Given the description of an element on the screen output the (x, y) to click on. 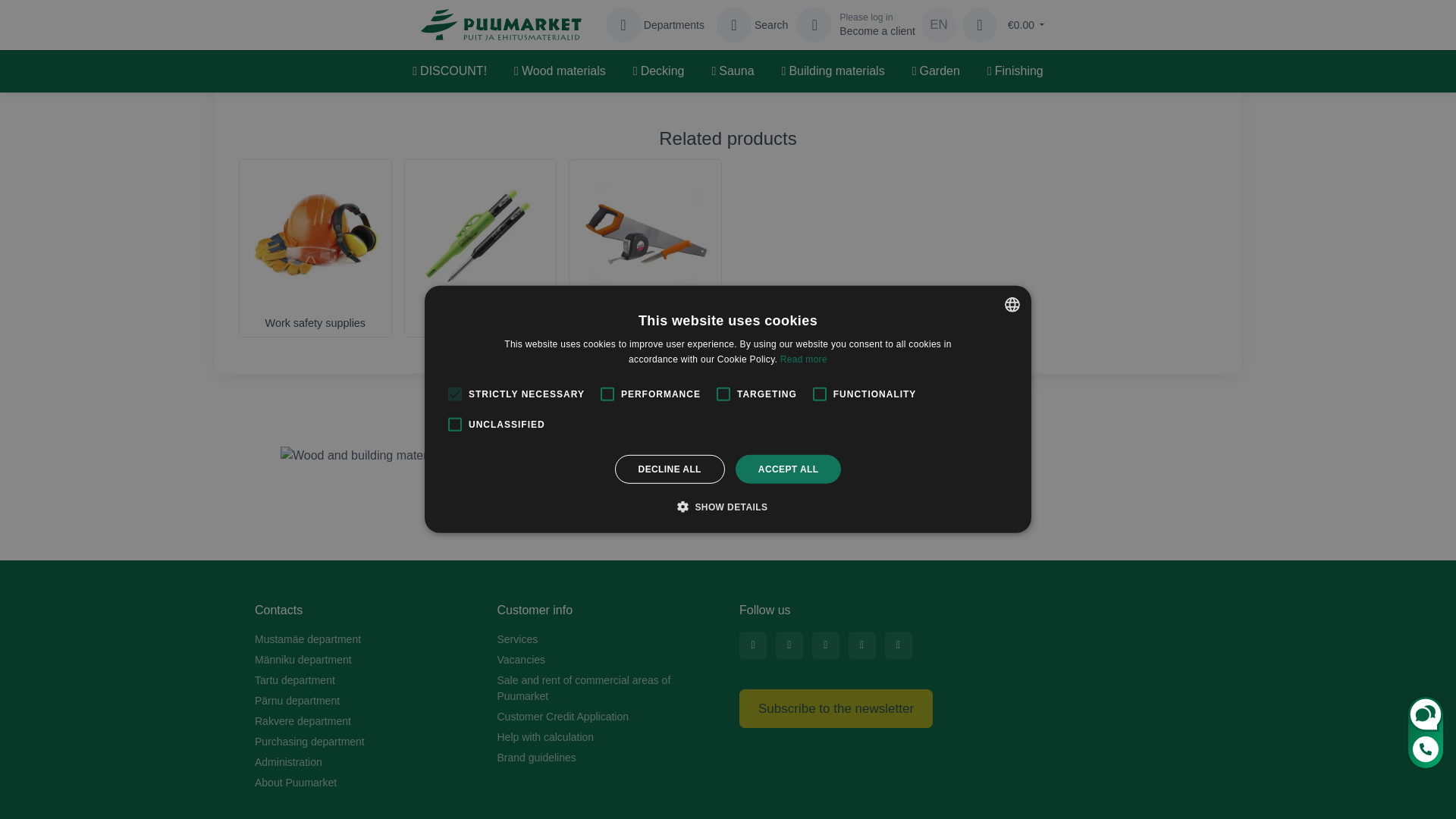
YouTube player (514, 38)
